Given the description of an element on the screen output the (x, y) to click on. 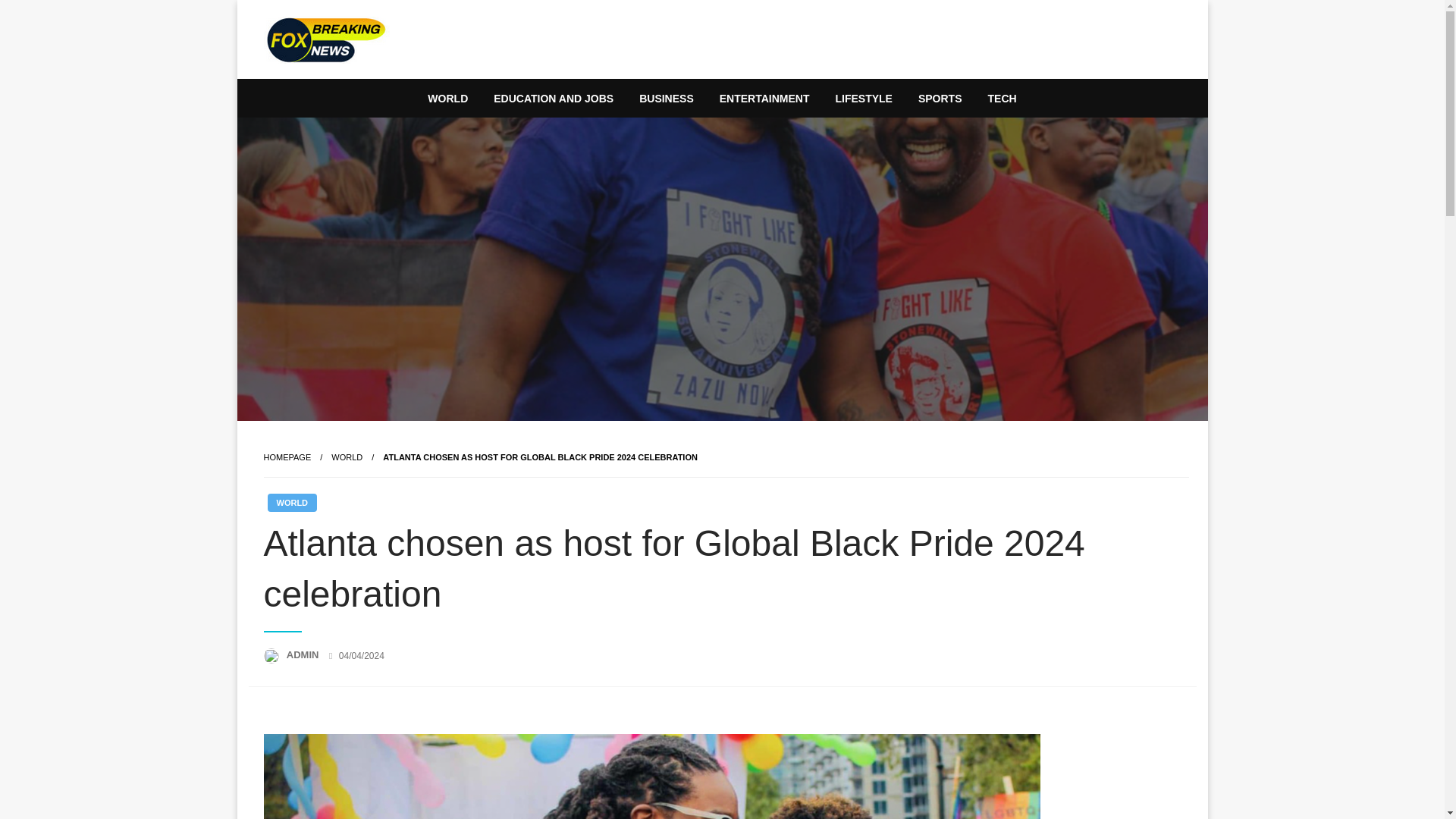
WORLD (346, 456)
HOMEPAGE (287, 456)
EDUCATION AND JOBS (553, 98)
ADMIN (303, 654)
ENTERTAINMENT (764, 98)
World (346, 456)
TECH (1002, 98)
ADMIN (303, 654)
WORLD (447, 98)
Homepage (287, 456)
WORLD (291, 502)
BUSINESS (666, 98)
LIFESTYLE (863, 98)
SPORTS (940, 98)
